Given the description of an element on the screen output the (x, y) to click on. 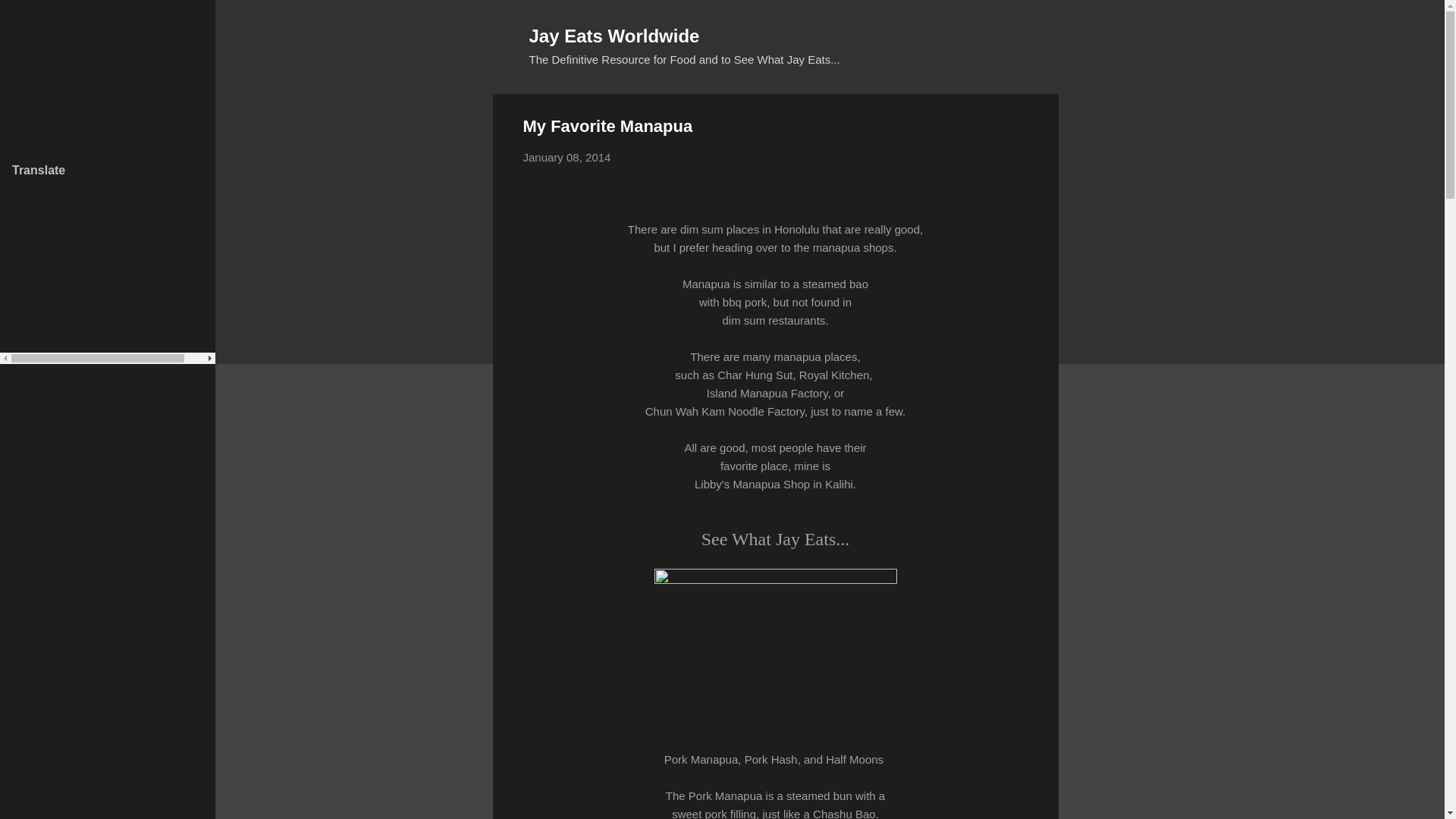
January 08, 2014 (566, 156)
Search (29, 18)
Jay Eats Worldwide (614, 35)
permanent link (566, 156)
